Given the description of an element on the screen output the (x, y) to click on. 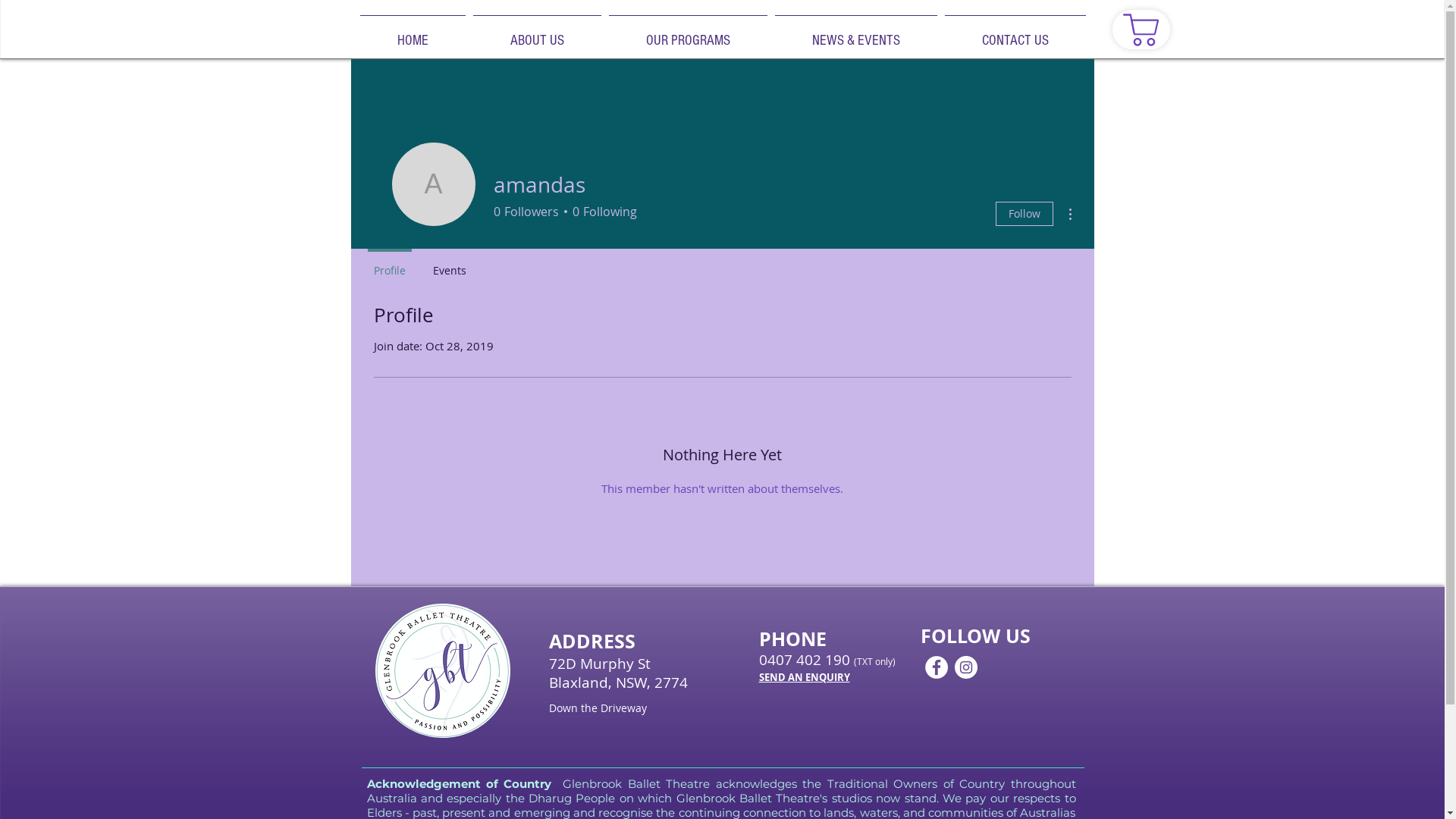
CONTACT US Element type: text (1014, 33)
ABOUT US Element type: text (536, 33)
Profile Element type: text (388, 263)
NEWS & EVENTS Element type: text (855, 33)
Events Element type: text (448, 263)
OUR PROGRAMS Element type: text (688, 33)
0
Followers Element type: text (525, 211)
SEND AN ENQUIRY Element type: text (803, 677)
HOME Element type: text (412, 33)
Follow Element type: text (1023, 213)
0
Following Element type: text (602, 211)
